Given the description of an element on the screen output the (x, y) to click on. 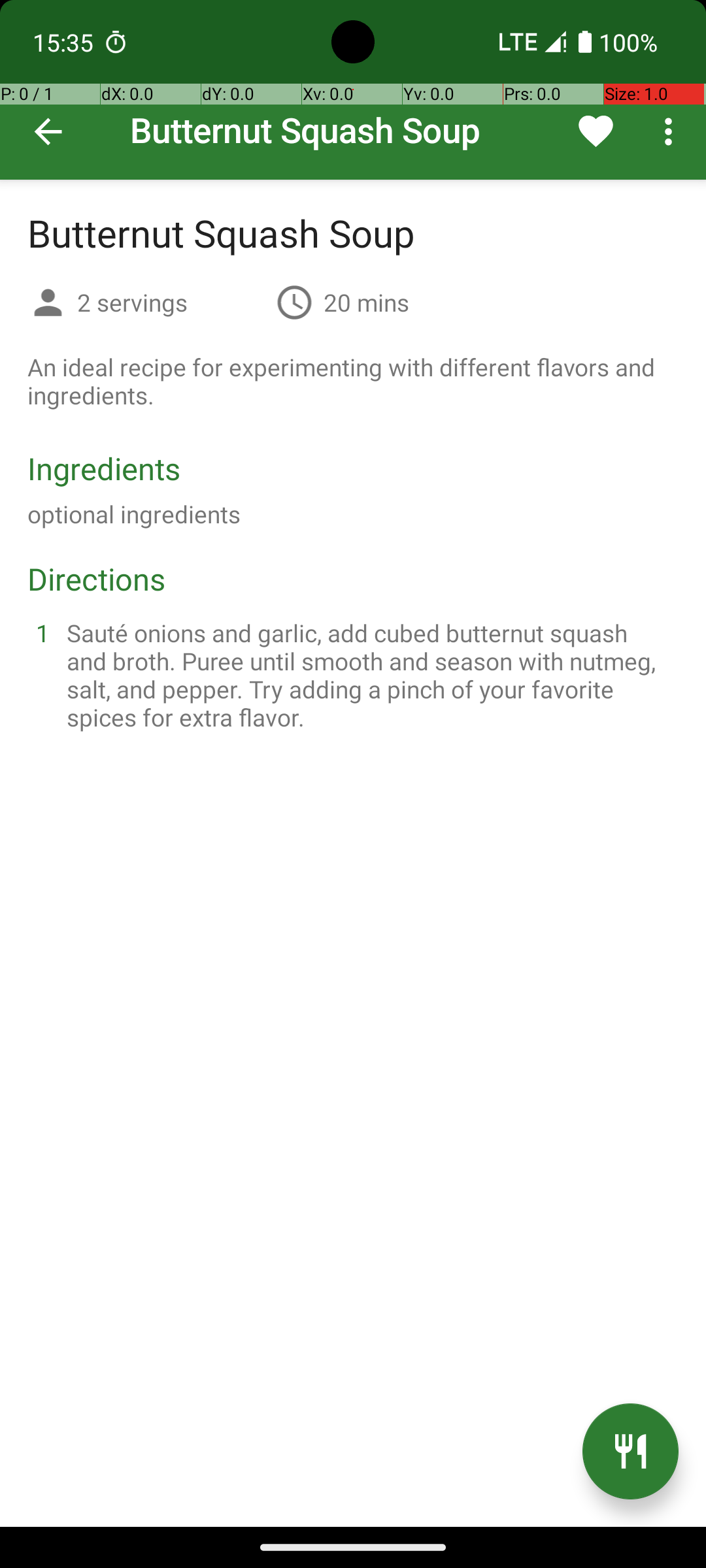
Sauté onions and garlic, add cubed butternut squash and broth. Puree until smooth and season with nutmeg, salt, and pepper. Try adding a pinch of your favorite spices for extra flavor. Element type: android.widget.TextView (368, 674)
